Given the description of an element on the screen output the (x, y) to click on. 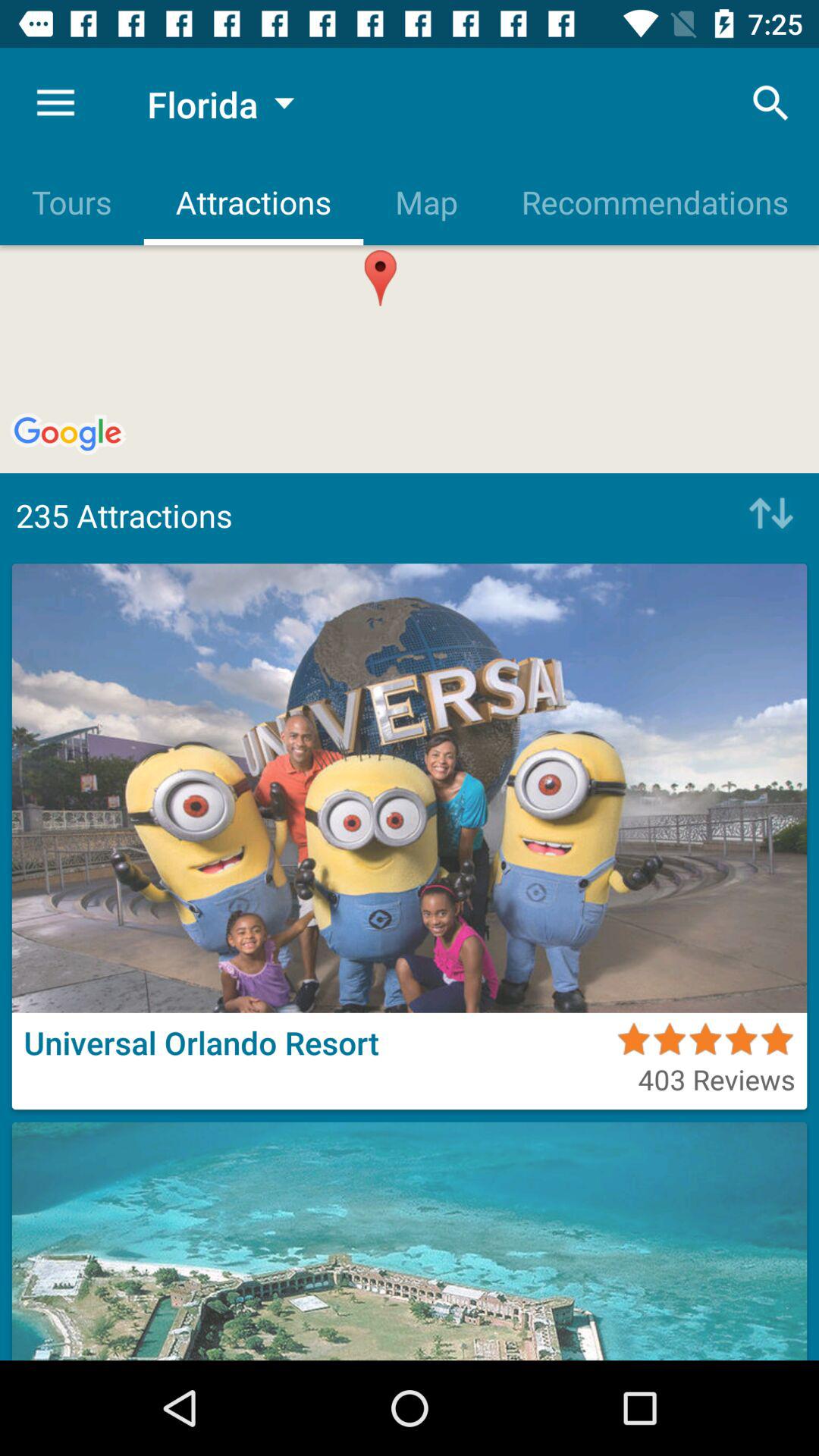
jump to the recommendations (654, 202)
